Given the description of an element on the screen output the (x, y) to click on. 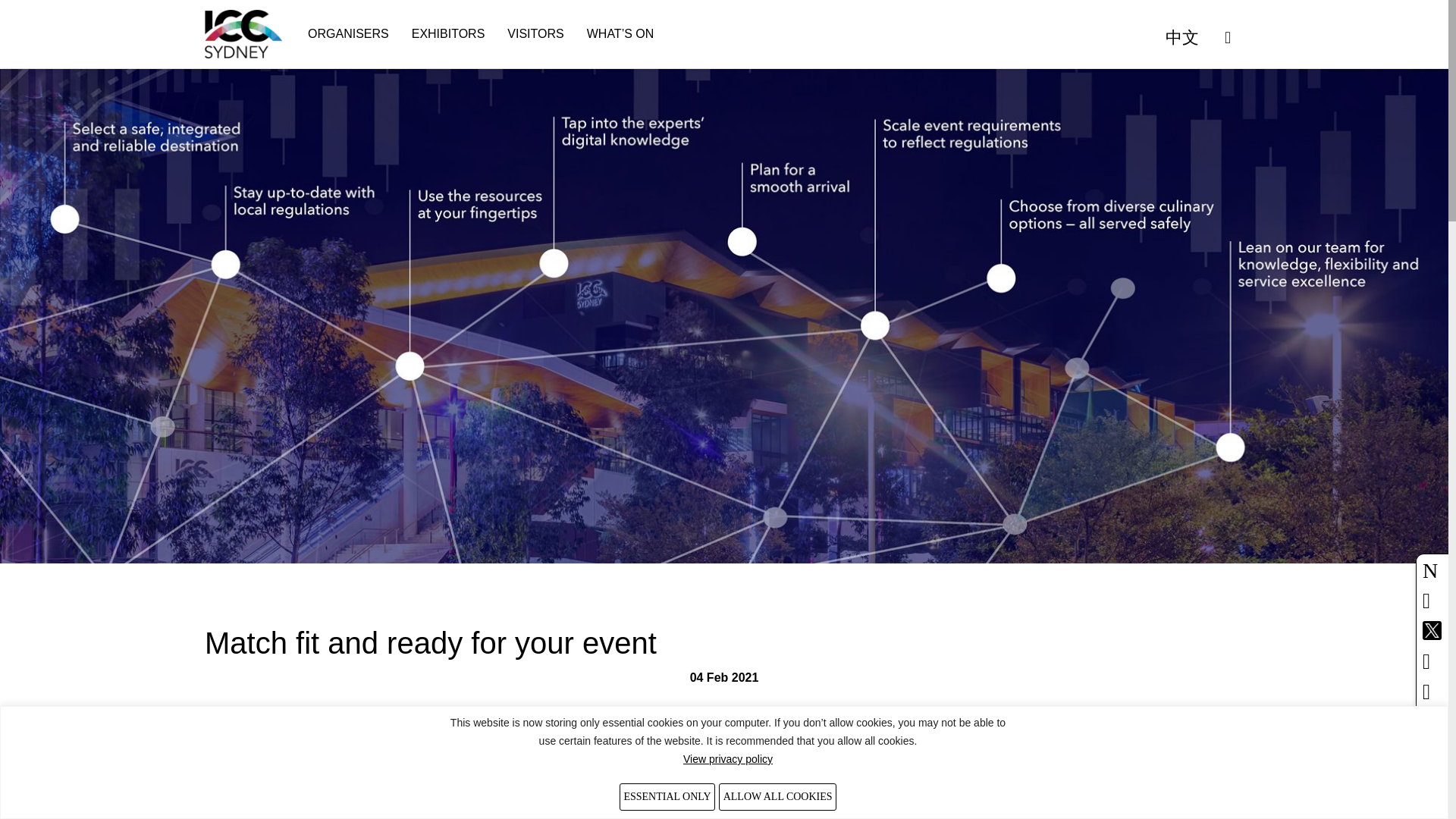
ALLOW ALL COOKIES (777, 796)
ESSENTIAL ONLY (667, 796)
ORGANISERS (347, 33)
View privacy policy (727, 758)
EXHIBITORS (448, 33)
